Given the description of an element on the screen output the (x, y) to click on. 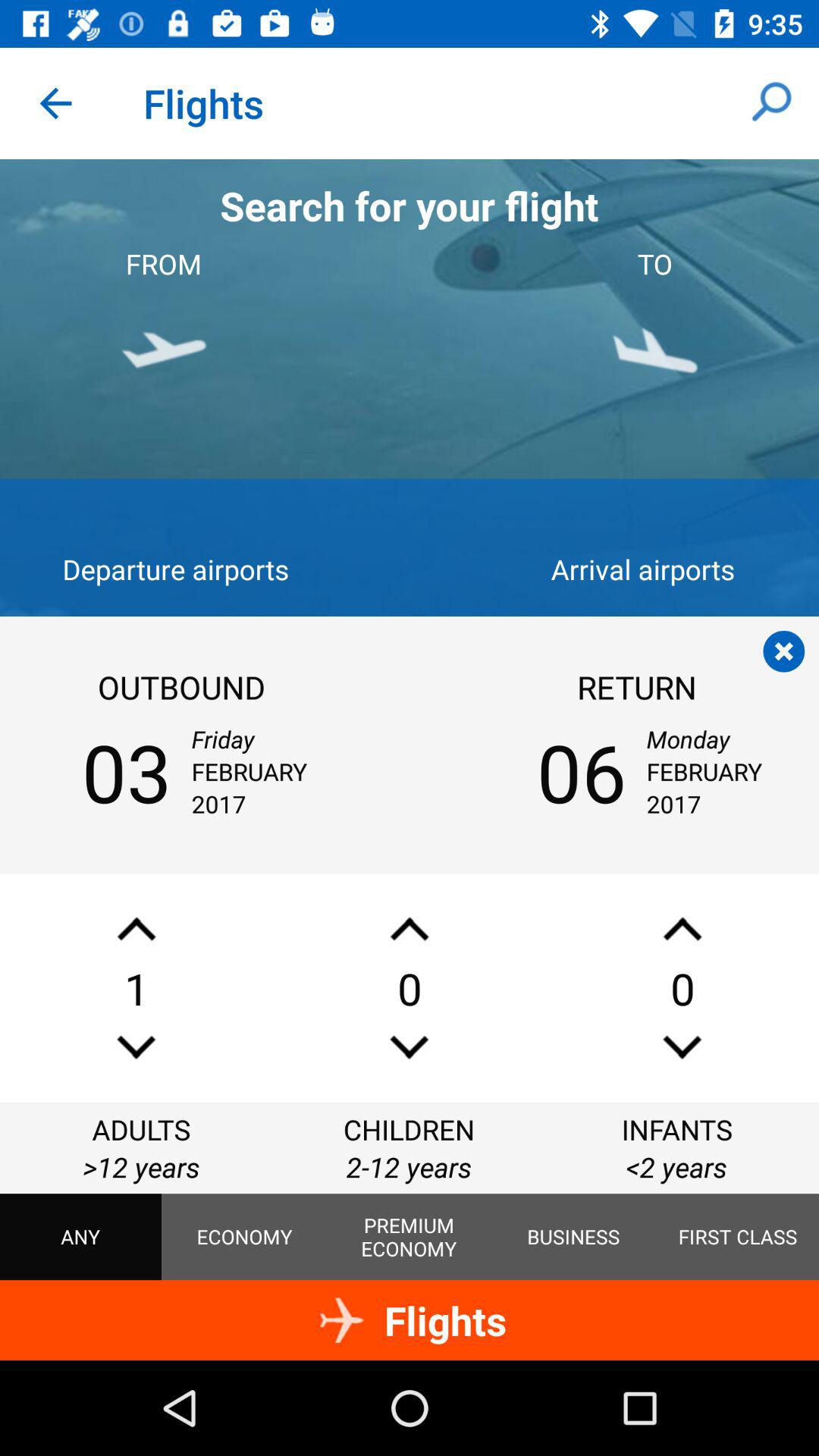
decrease number (136, 1047)
